Given the description of an element on the screen output the (x, y) to click on. 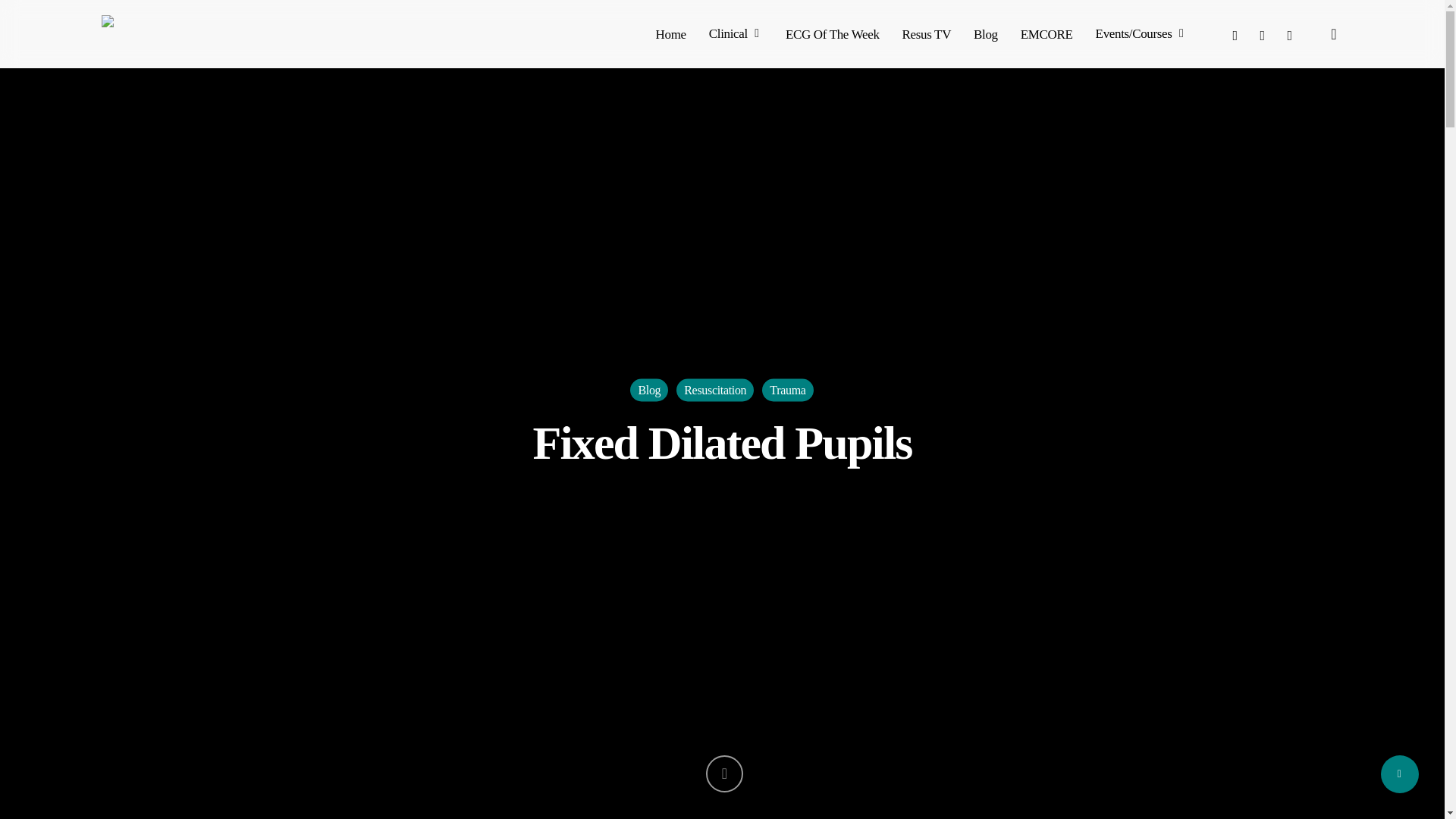
Resus TV (927, 33)
Blog (985, 33)
Clinical (735, 33)
ECG Of The Week (832, 33)
Home (670, 33)
